Given the description of an element on the screen output the (x, y) to click on. 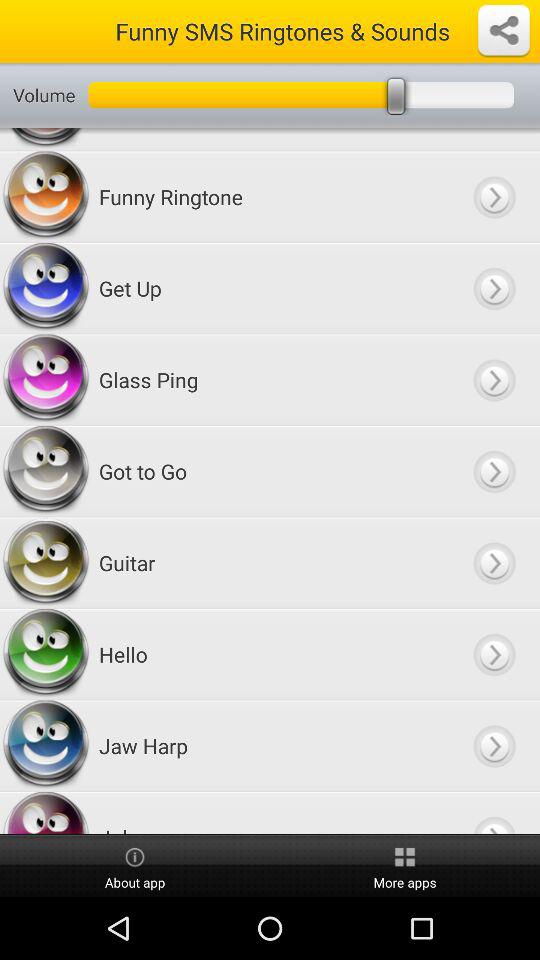
go next option (494, 471)
